Given the description of an element on the screen output the (x, y) to click on. 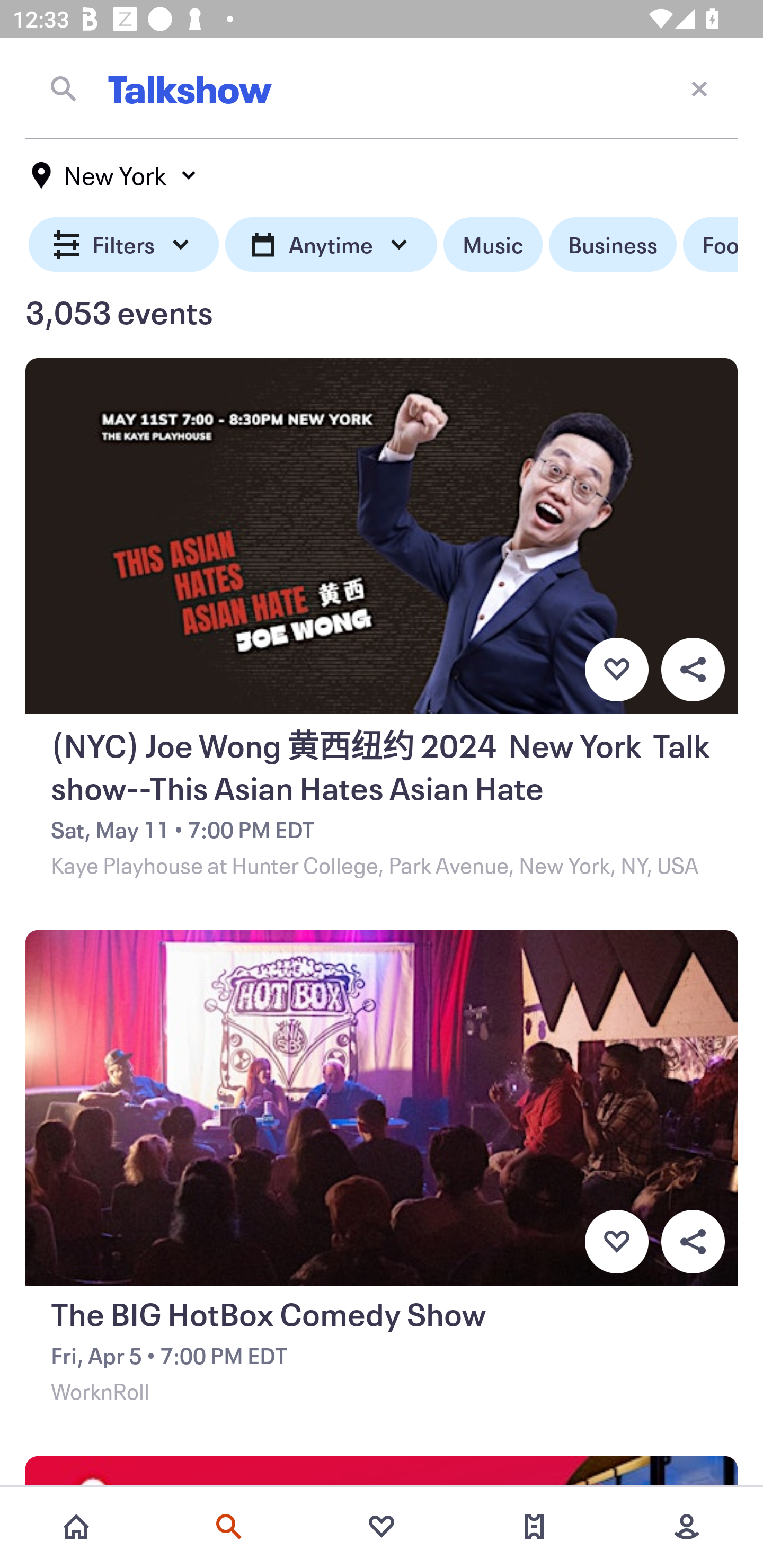
Talkshow Close current screen (381, 88)
Close current screen (699, 88)
New York (114, 175)
Filters (123, 244)
Anytime (331, 244)
Music (492, 244)
Business (612, 244)
Favorite button (616, 669)
Overflow menu button (692, 669)
Favorite button (616, 1241)
Overflow menu button (692, 1241)
Home (76, 1526)
Search events (228, 1526)
Favorites (381, 1526)
Tickets (533, 1526)
More (686, 1526)
